Given the description of an element on the screen output the (x, y) to click on. 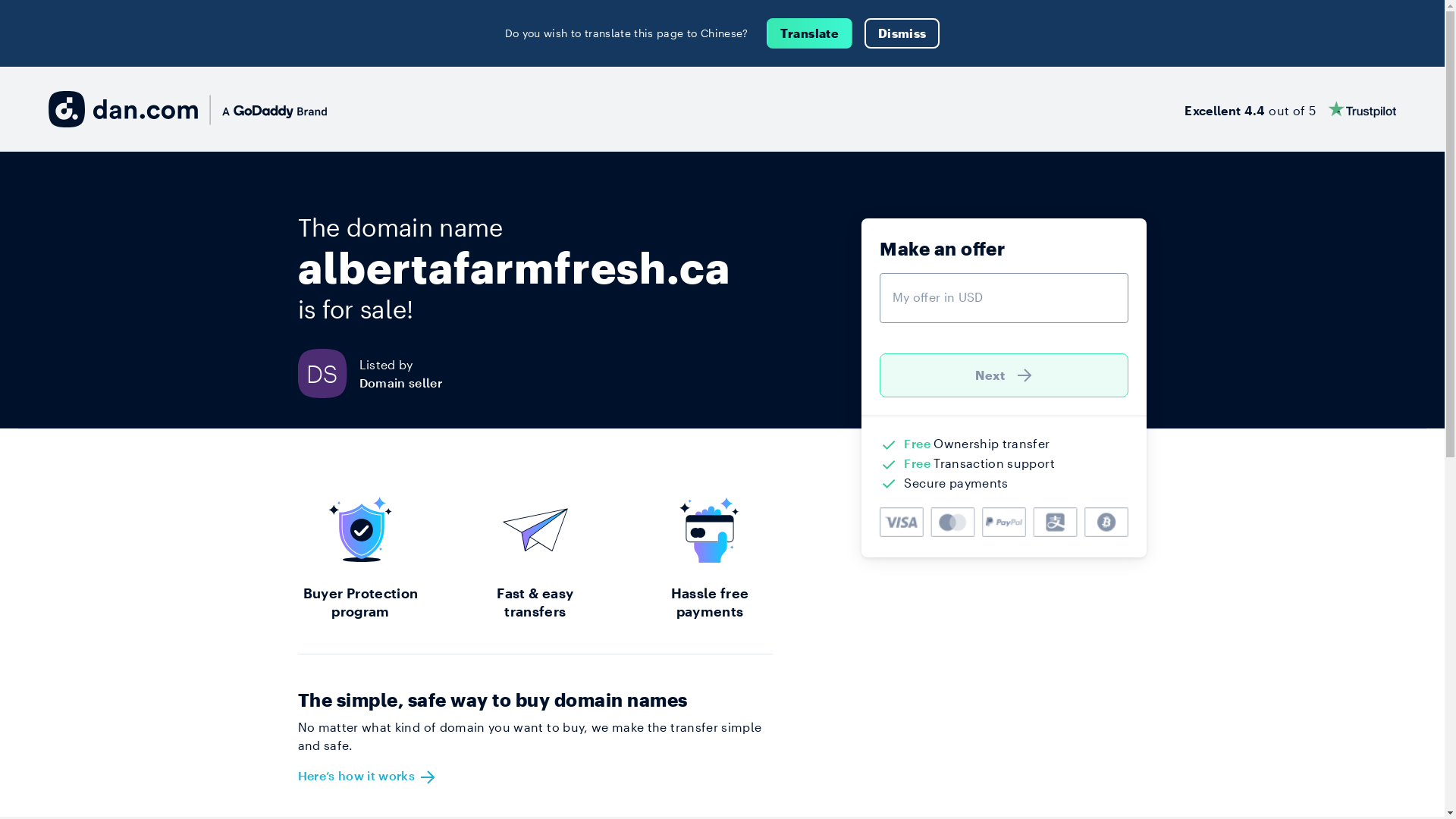
Next
) Element type: text (1003, 375)
Dismiss Element type: text (901, 33)
Translate Element type: text (809, 33)
DS Element type: text (327, 373)
Excellent 4.4 out of 5 Element type: text (1290, 109)
